Given the description of an element on the screen output the (x, y) to click on. 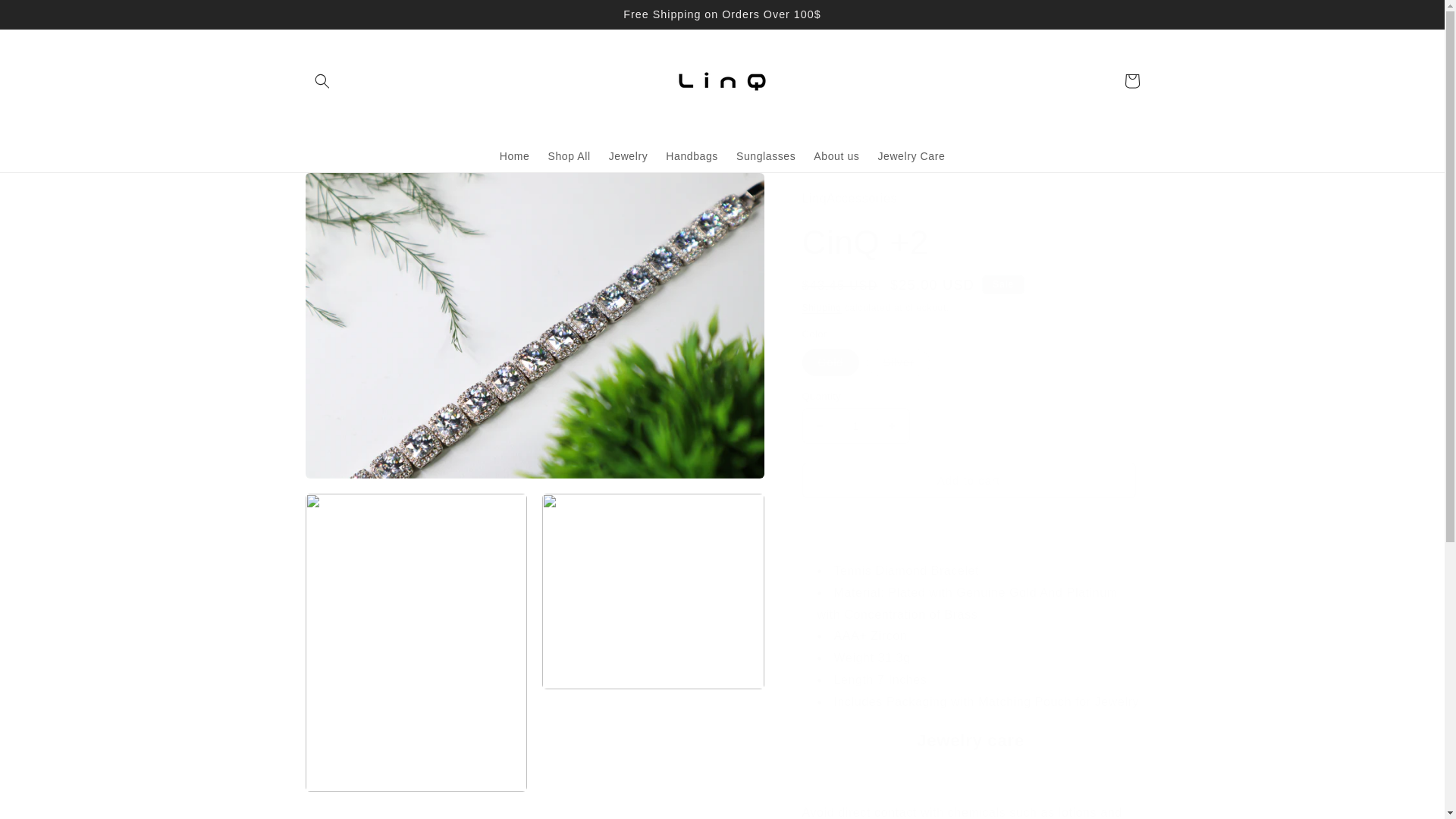
Skip to product information (350, 189)
Cart (1131, 80)
Home (514, 155)
Skip to content (45, 17)
Sunglasses (765, 155)
Jewelry Care (910, 155)
Shop All (568, 155)
About us (836, 155)
